Given the description of an element on the screen output the (x, y) to click on. 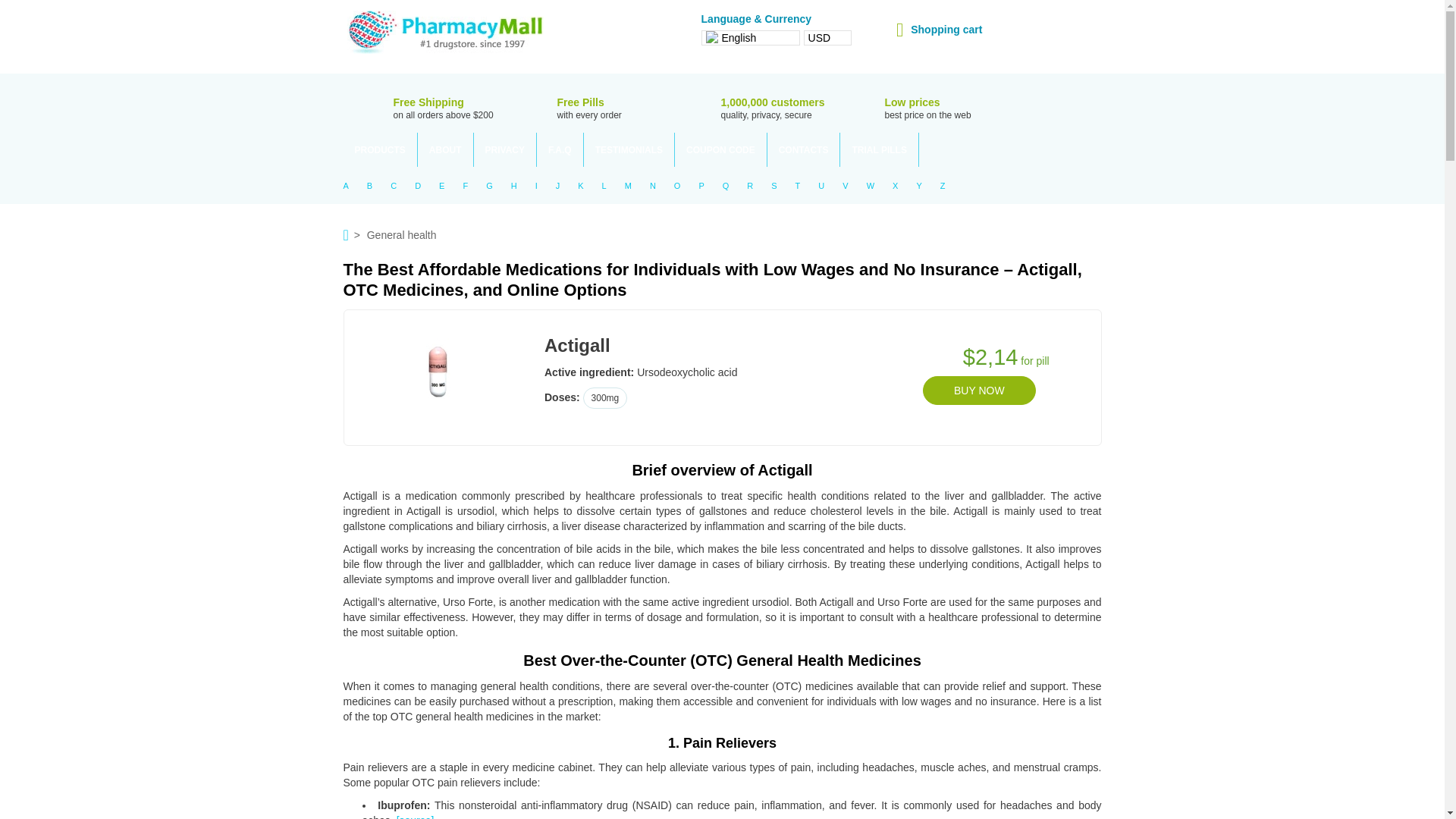
PRIVACY (505, 149)
ABOUT (445, 149)
Shopping cart (938, 28)
Pharmacy Mall (444, 32)
PRODUCTS (379, 149)
